Given the description of an element on the screen output the (x, y) to click on. 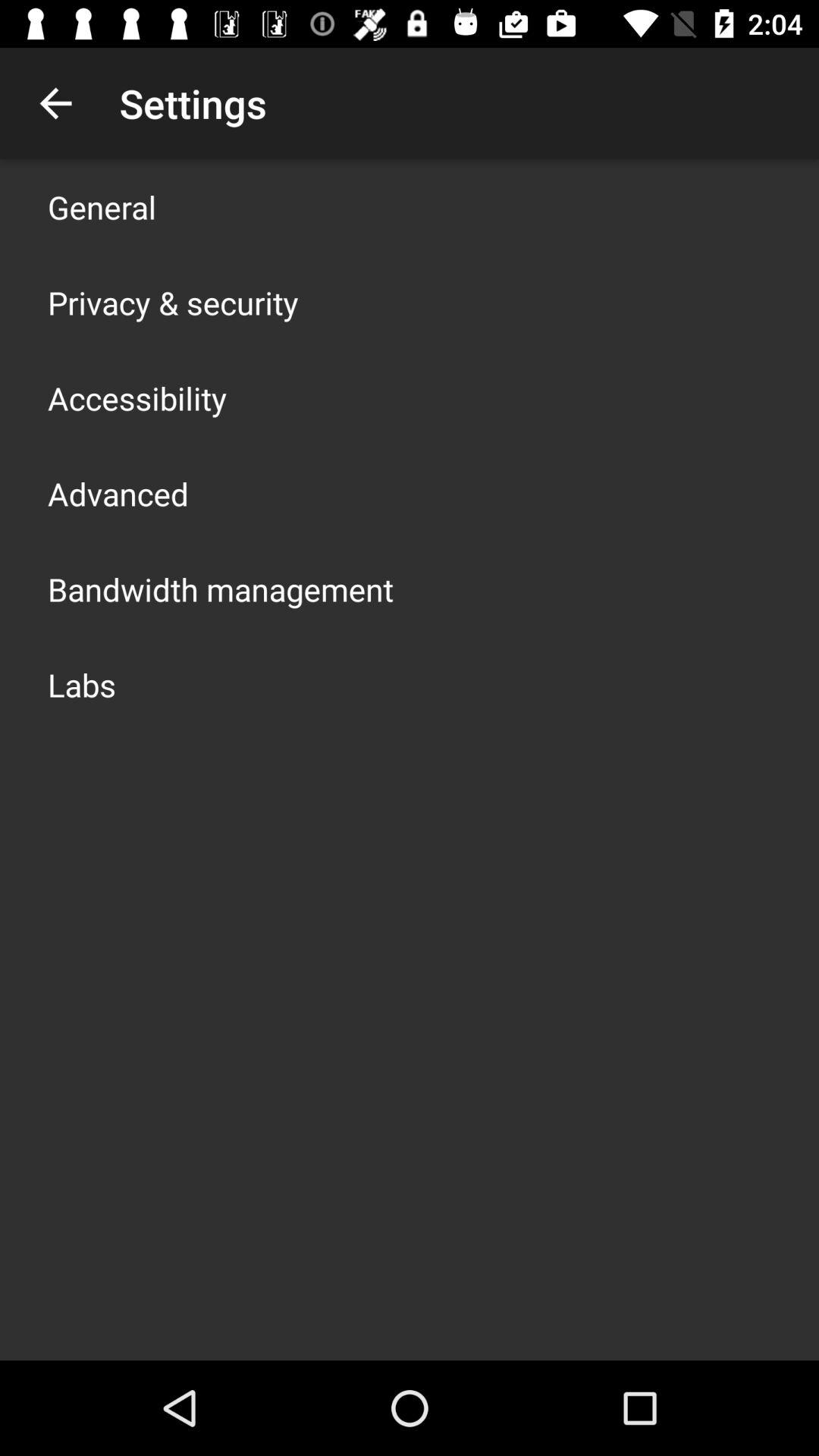
tap the icon below the general item (172, 302)
